Given the description of an element on the screen output the (x, y) to click on. 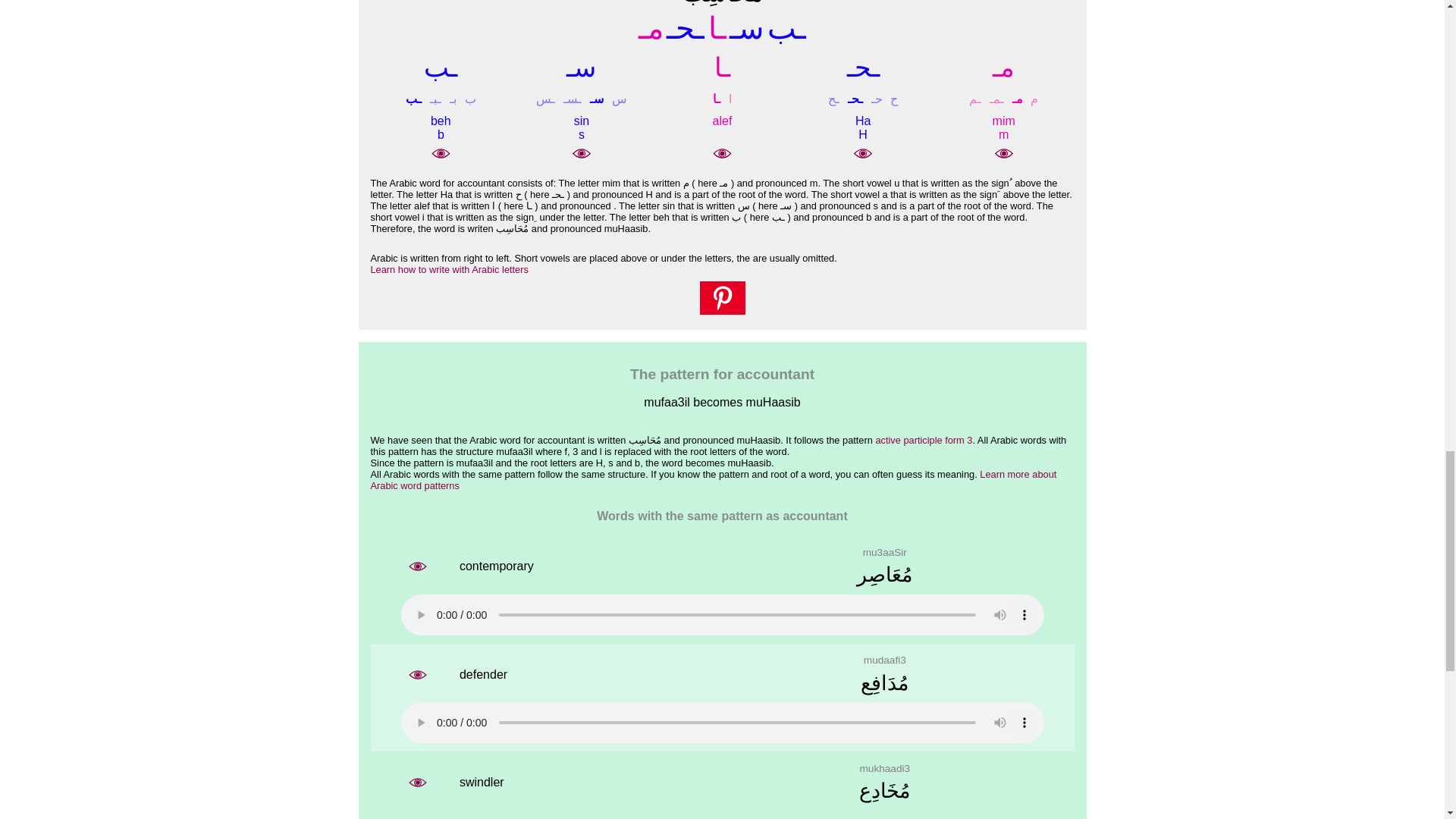
Learn more about Arabic word patterns (713, 479)
active participle form 3 (923, 439)
Learn how to write with Arabic letters (448, 269)
